Given the description of an element on the screen output the (x, y) to click on. 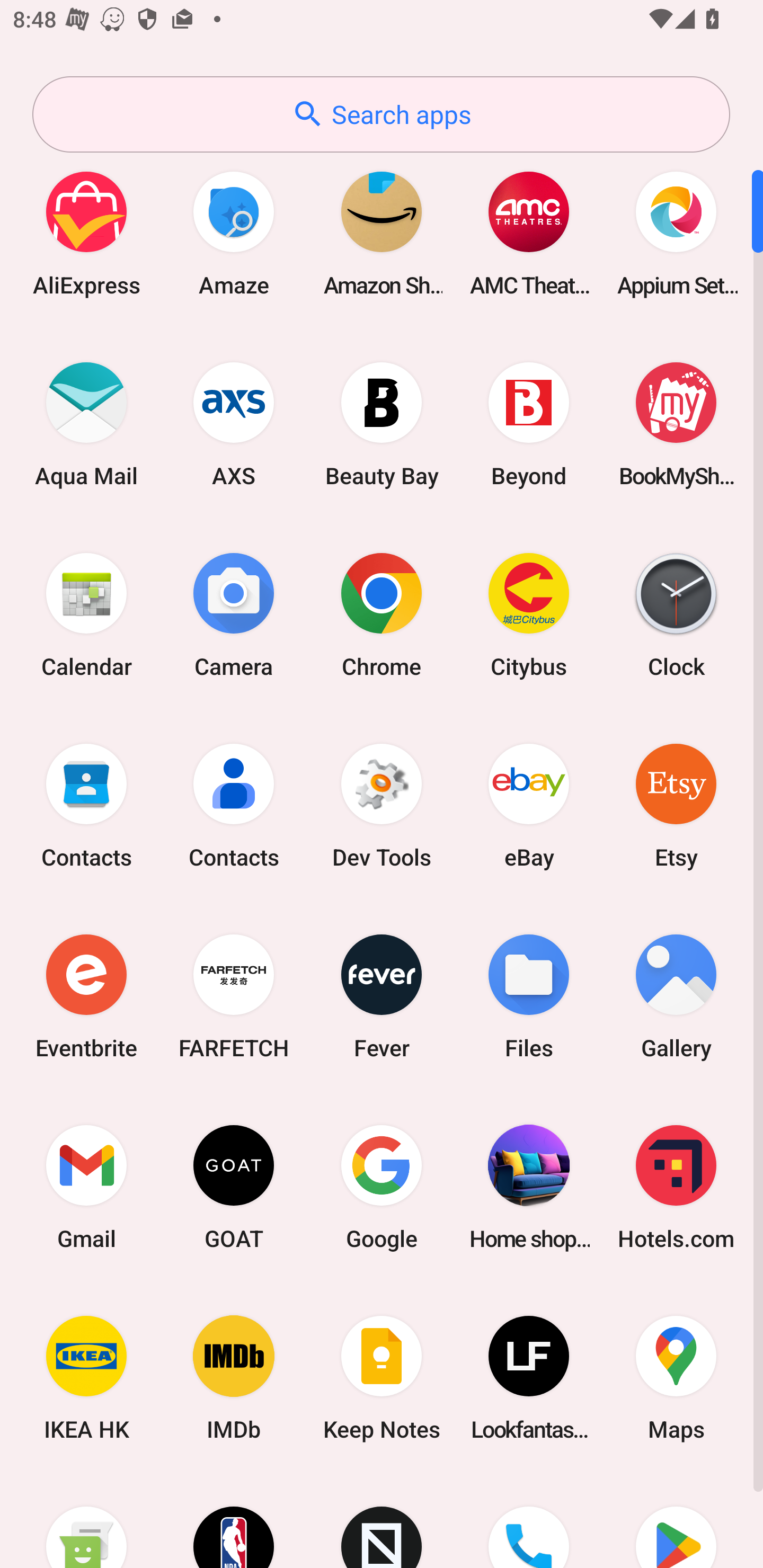
  Search apps (381, 114)
AliExpress (86, 233)
Amaze (233, 233)
Amazon Shopping (381, 233)
AMC Theatres (528, 233)
Appium Settings (676, 233)
Aqua Mail (86, 424)
AXS (233, 424)
Beauty Bay (381, 424)
Beyond (528, 424)
BookMyShow (676, 424)
Calendar (86, 614)
Camera (233, 614)
Chrome (381, 614)
Citybus (528, 614)
Clock (676, 614)
Contacts (86, 805)
Contacts (233, 805)
Dev Tools (381, 805)
eBay (528, 805)
Etsy (676, 805)
Eventbrite (86, 996)
FARFETCH (233, 996)
Fever (381, 996)
Files (528, 996)
Gallery (676, 996)
Gmail (86, 1186)
GOAT (233, 1186)
Google (381, 1186)
Home shopping (528, 1186)
Hotels.com (676, 1186)
IKEA HK (86, 1377)
IMDb (233, 1377)
Keep Notes (381, 1377)
Lookfantastic (528, 1377)
Maps (676, 1377)
Messaging (86, 1520)
NBA (233, 1520)
Novelship (381, 1520)
Phone (528, 1520)
Play Store (676, 1520)
